Given the description of an element on the screen output the (x, y) to click on. 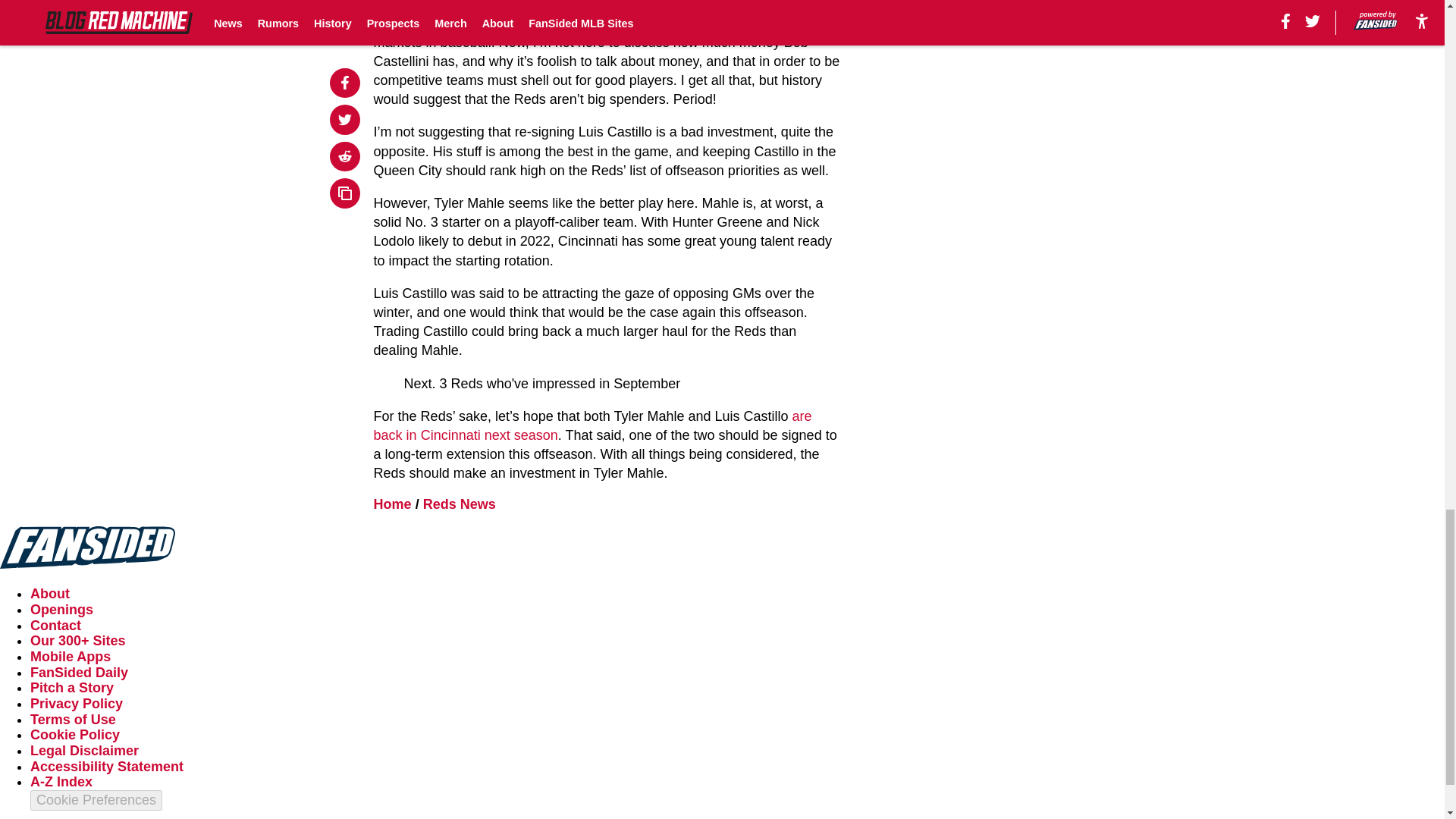
are back in Cincinnati next season (593, 425)
Contact (55, 625)
Home (393, 503)
Openings (61, 609)
About (49, 593)
Reds News (459, 503)
